Given the description of an element on the screen output the (x, y) to click on. 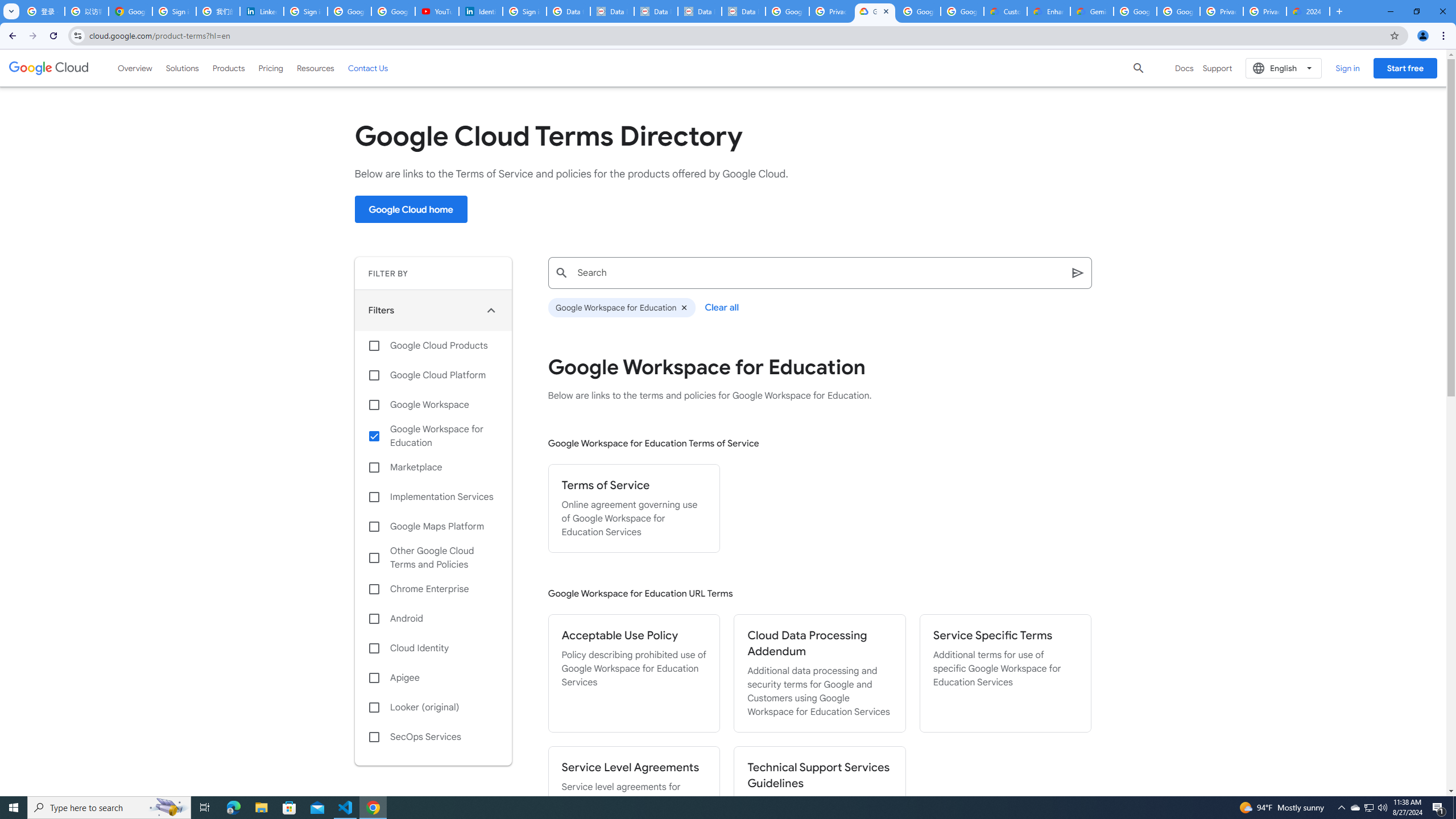
Sign in - Google Accounts (173, 11)
Customer Care | Google Cloud (1005, 11)
Data Privacy Framework (699, 11)
Start free (1405, 67)
Chrome Enterprise (432, 589)
Google Workspace (432, 404)
Google Cloud Platform (432, 374)
Resources (314, 67)
